Given the description of an element on the screen output the (x, y) to click on. 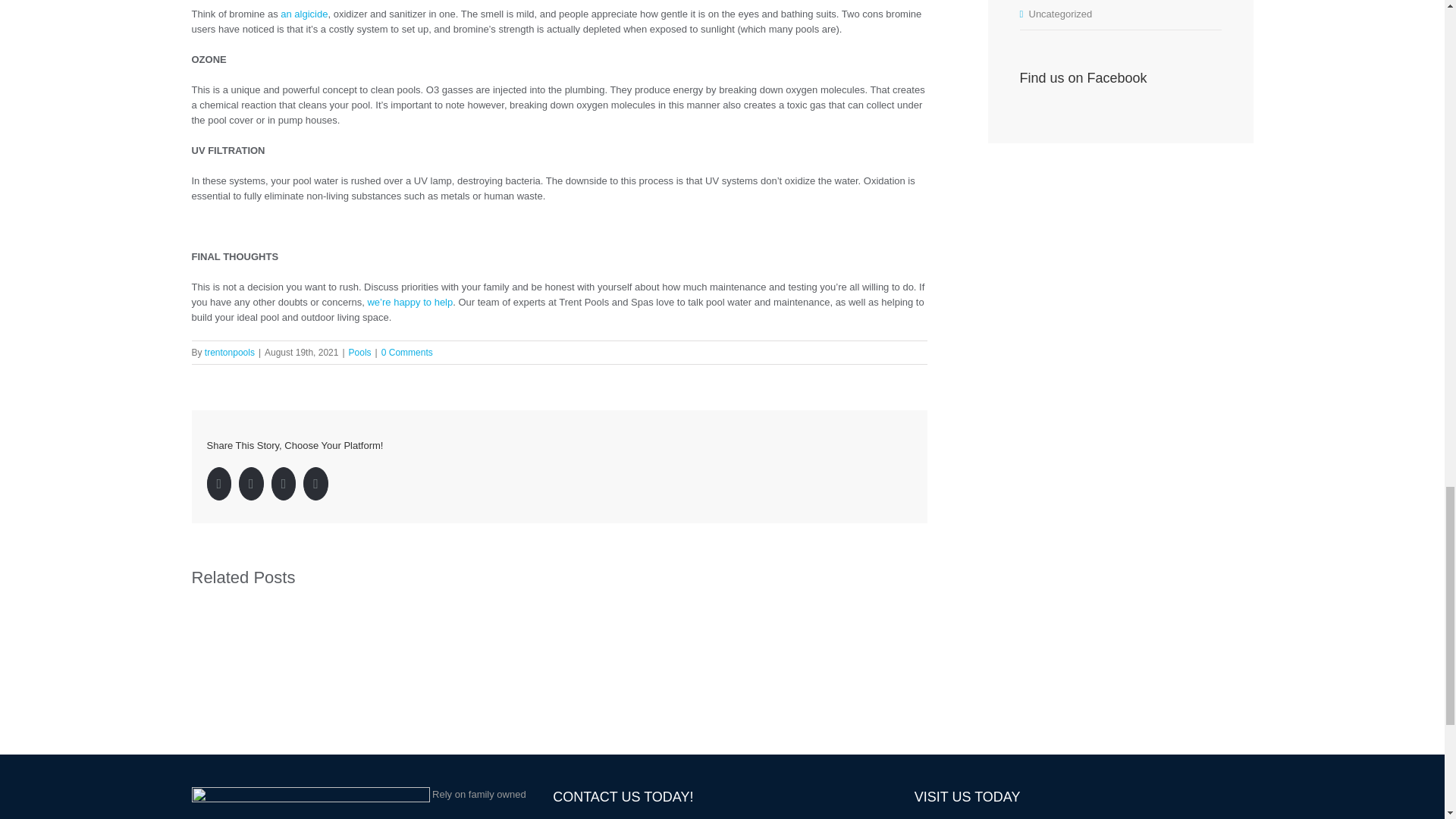
Posts by trentonpools (229, 352)
trentonpools (229, 352)
Pools (360, 352)
0 Comments (406, 352)
an algicide (304, 13)
